Given the description of an element on the screen output the (x, y) to click on. 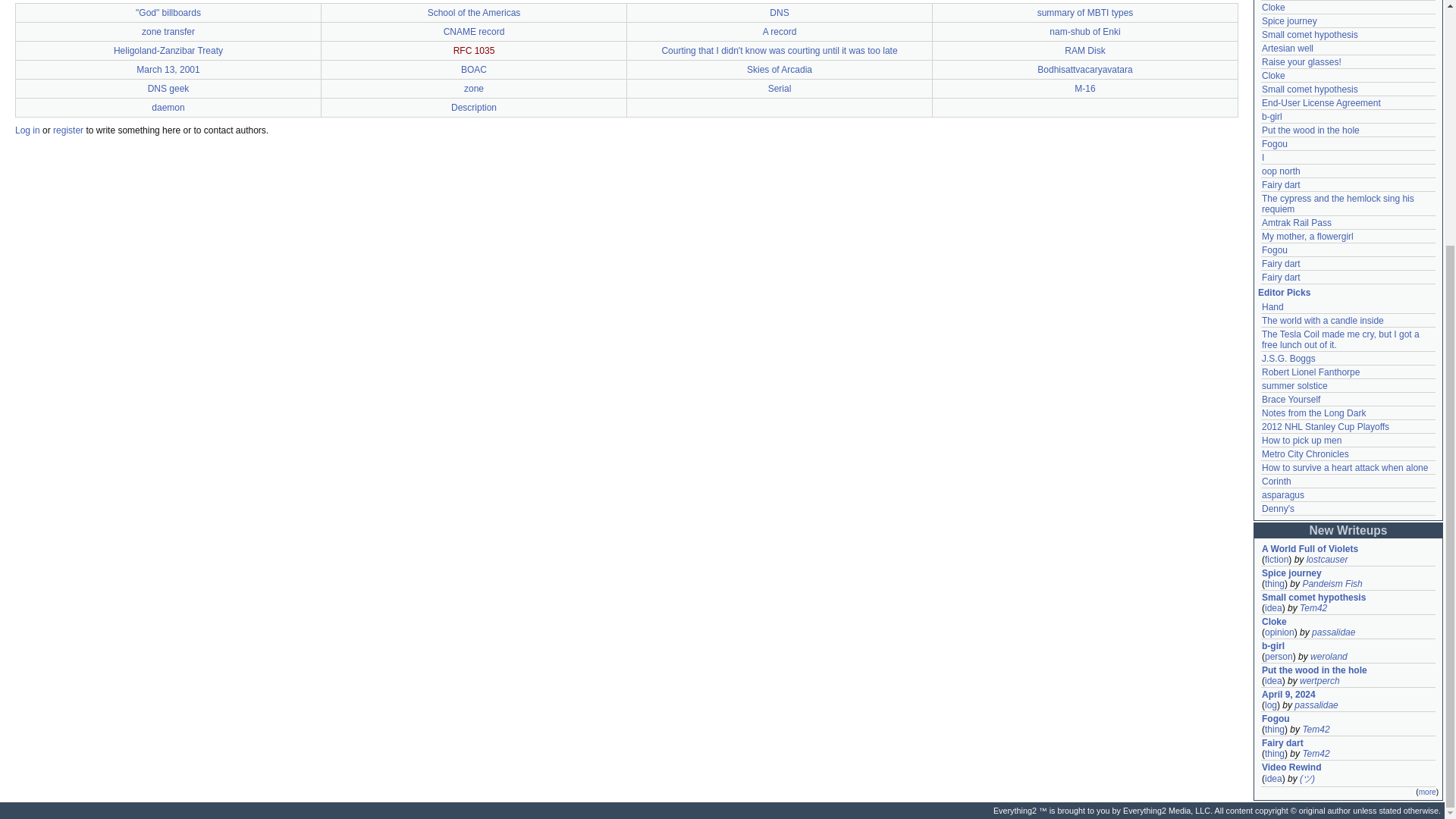
nam-shub of Enki (1084, 31)
zone transfer (168, 31)
Heligoland-Zanzibar Treaty (167, 50)
School of the Americas (474, 12)
DNS (779, 12)
CNAME record (474, 31)
RFC 1035 (473, 50)
"God" billboards (167, 12)
summary of MBTI types (1085, 12)
A record (779, 31)
